Given the description of an element on the screen output the (x, y) to click on. 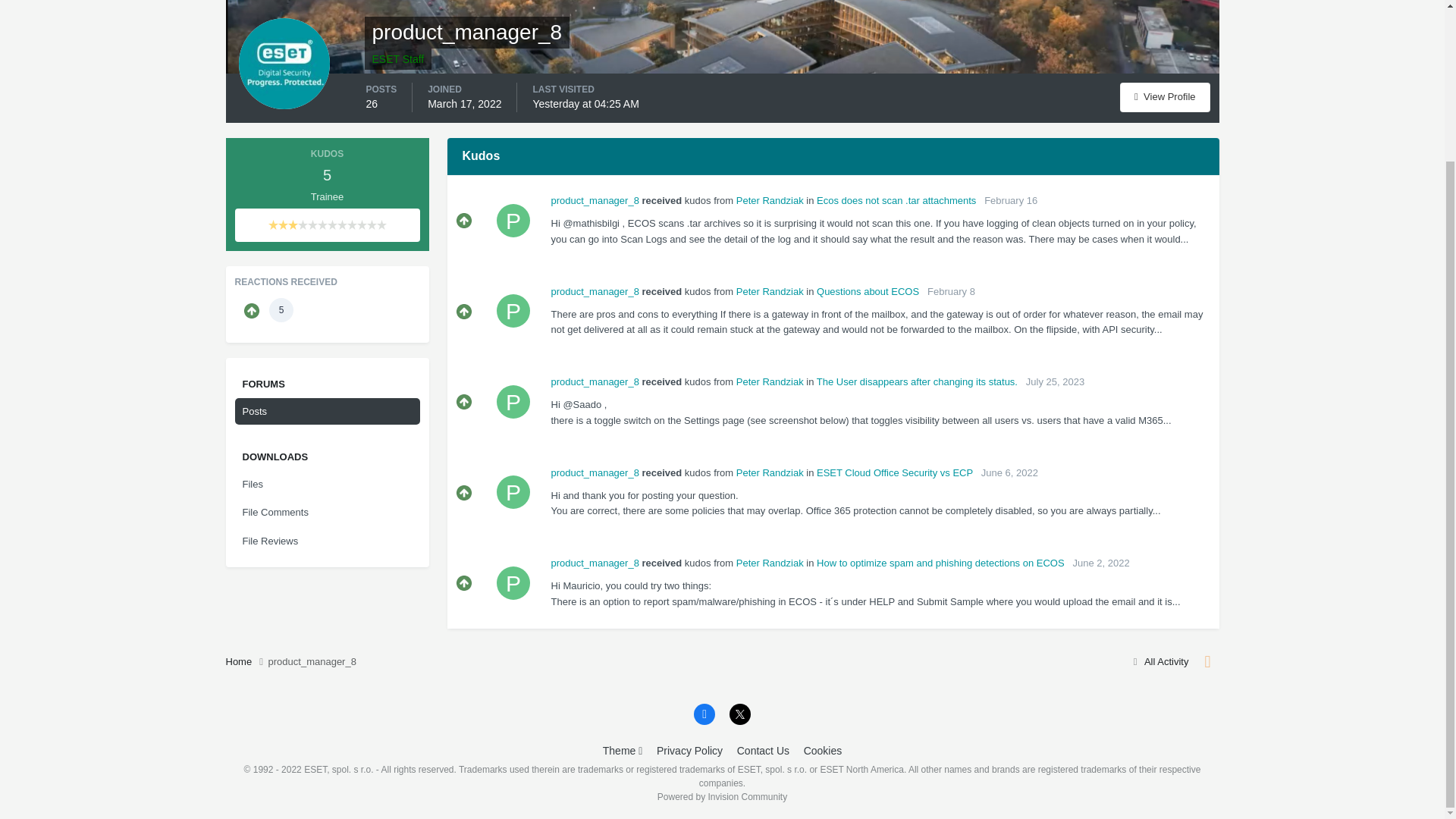
Upvote (464, 311)
 View Profile (1164, 97)
Upvote (464, 220)
Go to Peter Randziak's profile (512, 310)
Go to Peter Randziak's profile (512, 220)
Go to Peter Randziak's profile (769, 200)
